Given the description of an element on the screen output the (x, y) to click on. 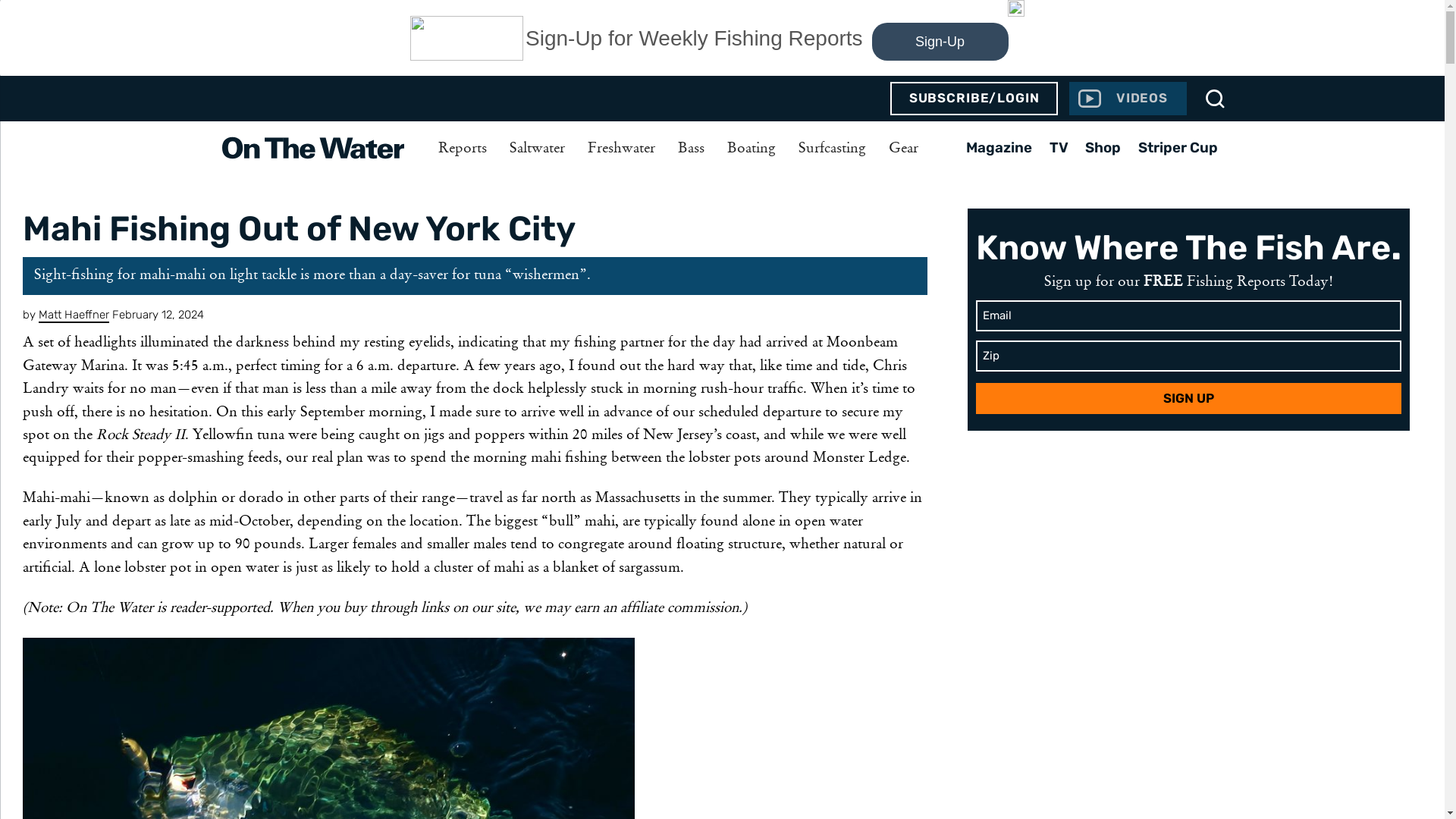
Magazine (999, 147)
Surfcasting (832, 148)
Saltwater (536, 148)
Freshwater (621, 148)
Bass (689, 148)
TV (1059, 147)
Boating (751, 148)
Reports (461, 148)
VIDEOS (1127, 98)
Striper Cup (1178, 147)
Shop (1103, 147)
